Given the description of an element on the screen output the (x, y) to click on. 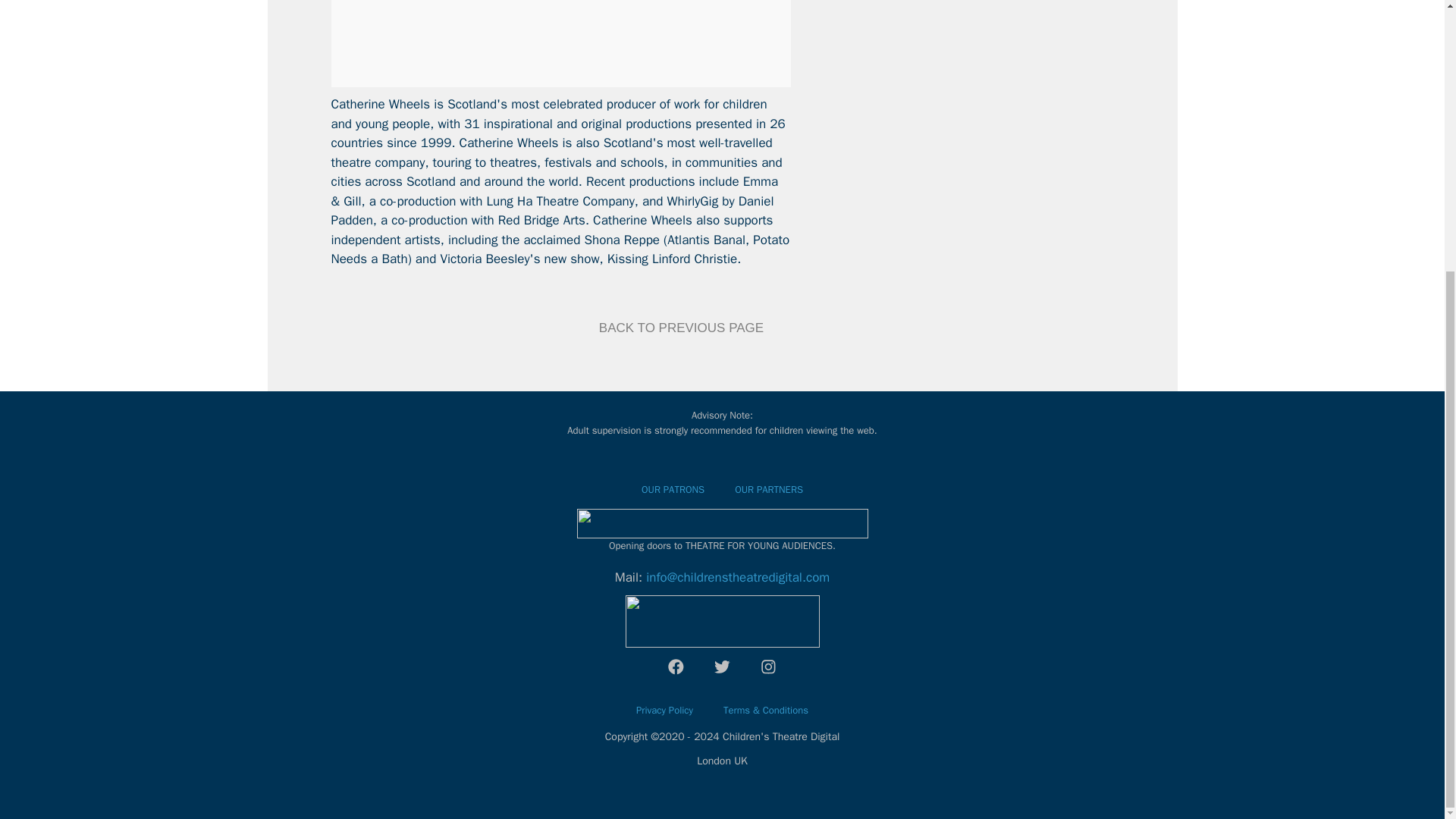
Privacy Policy (664, 715)
OUR PATRONS (672, 489)
OUR PARTNERS (768, 489)
BACK TO PREVIOUS PAGE (680, 328)
